Given the description of an element on the screen output the (x, y) to click on. 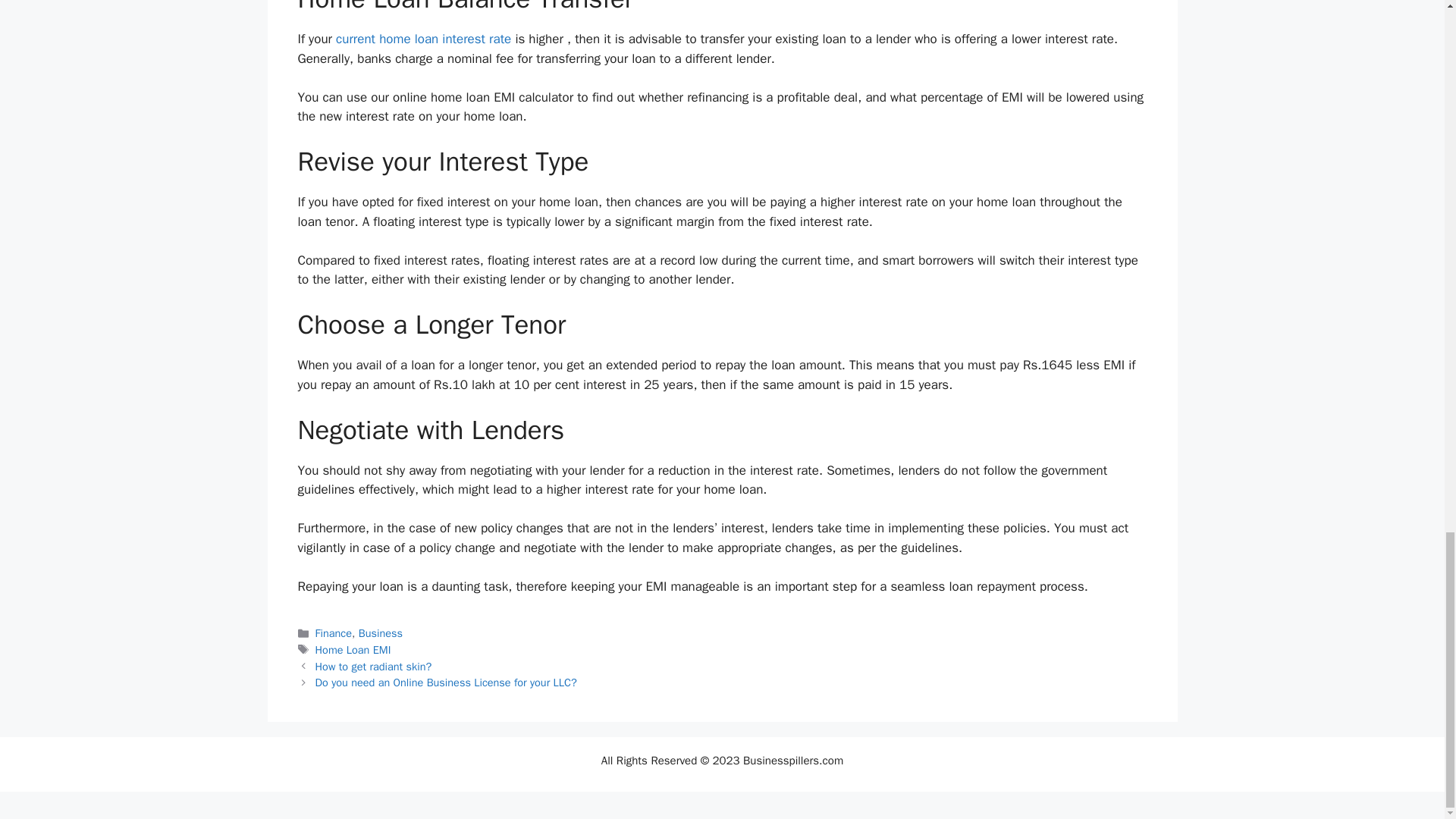
How to get radiant skin? (373, 666)
Finance (333, 632)
Do you need an Online Business License for your LLC? (445, 682)
current home loan interest rate (423, 38)
Business (380, 632)
Home Loan EMI (353, 649)
